Given the description of an element on the screen output the (x, y) to click on. 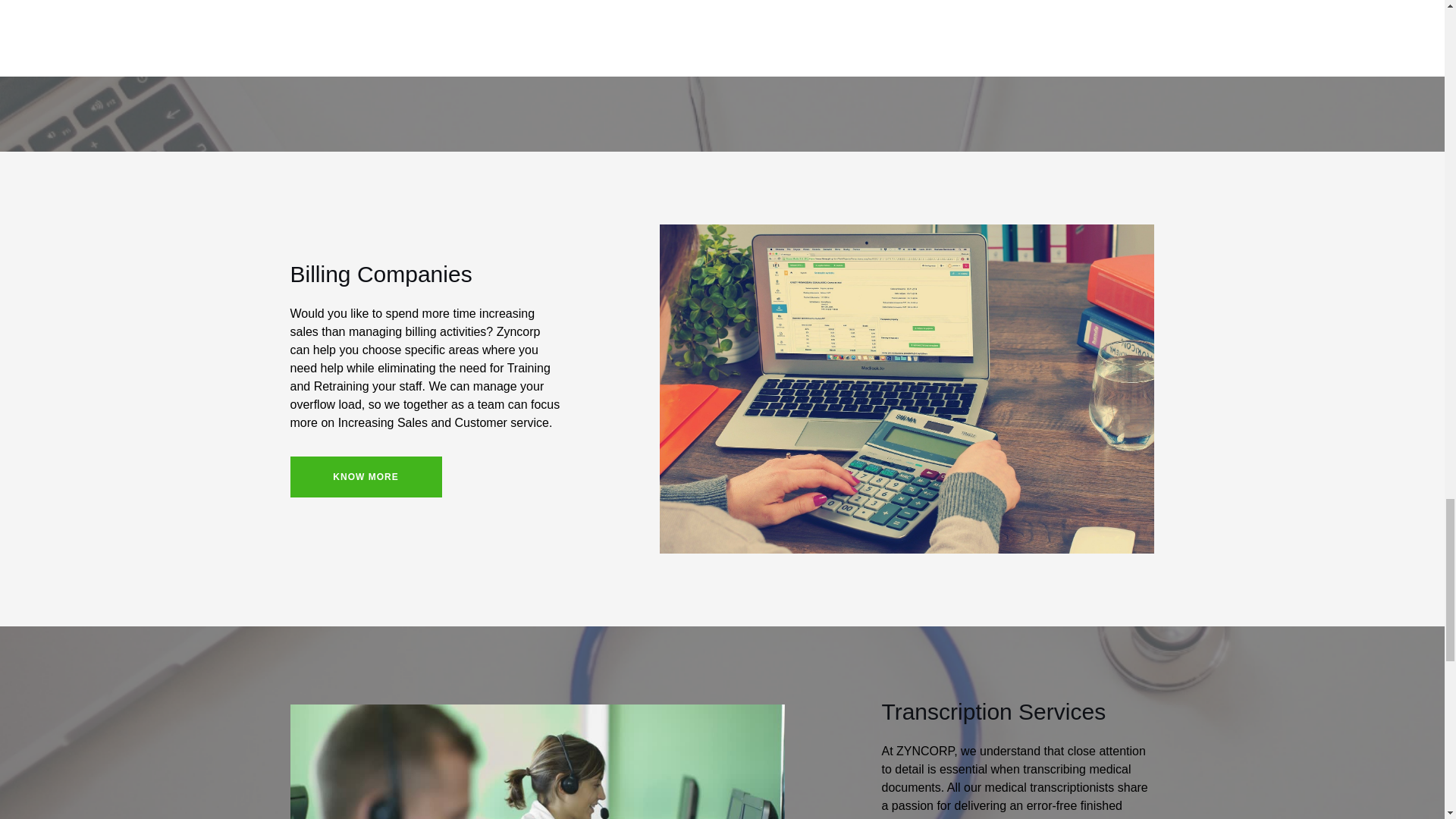
KNOW MORE (365, 476)
